Given the description of an element on the screen output the (x, y) to click on. 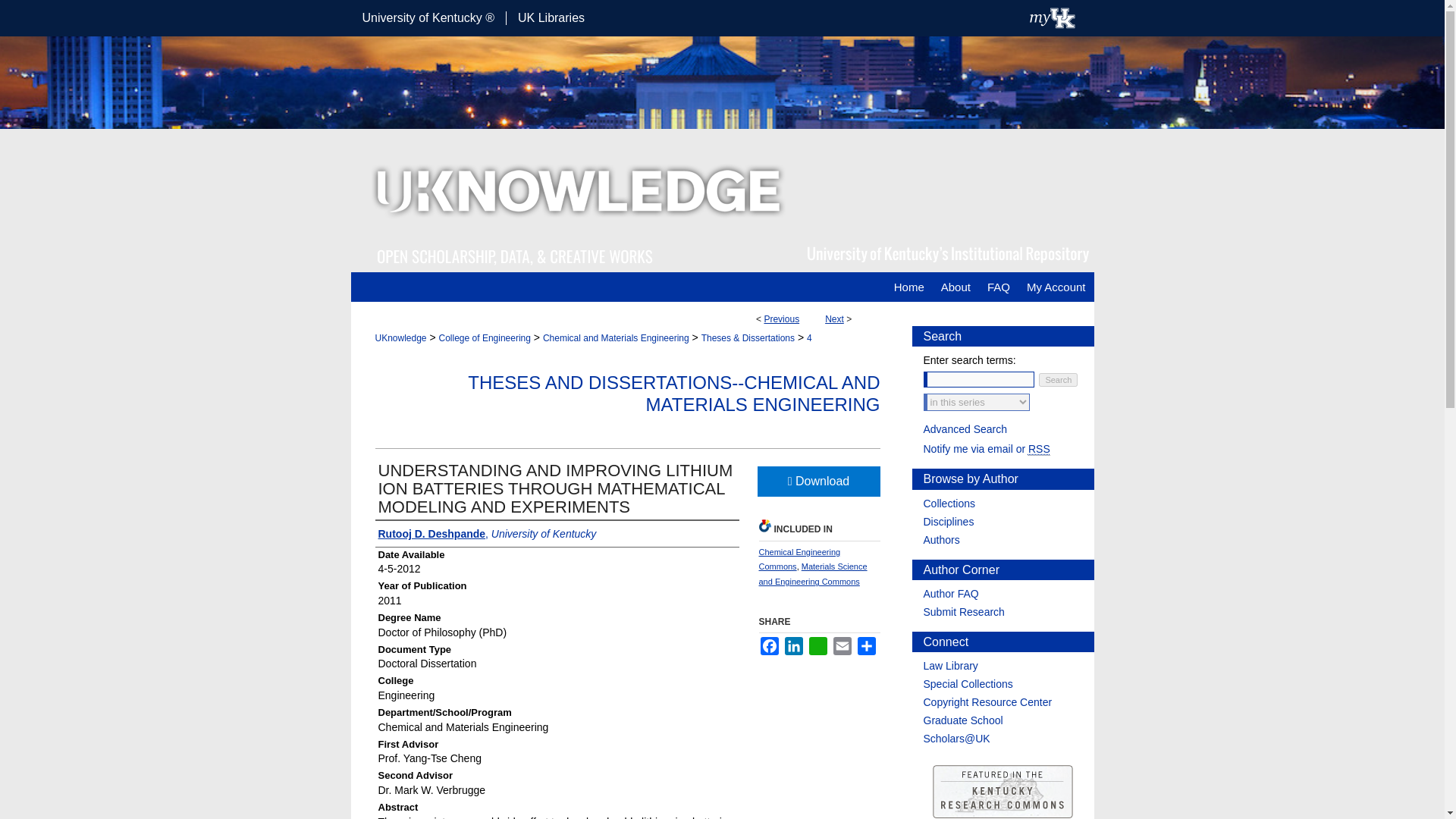
Search (1058, 379)
Chemical Engineering Commons (799, 559)
Chemical Engineering Commons (799, 559)
Browse by Collections (1008, 503)
Search (1058, 379)
Materials Science and Engineering Commons (812, 573)
WhatsApp (817, 646)
About (955, 286)
Previous (780, 318)
